Given the description of an element on the screen output the (x, y) to click on. 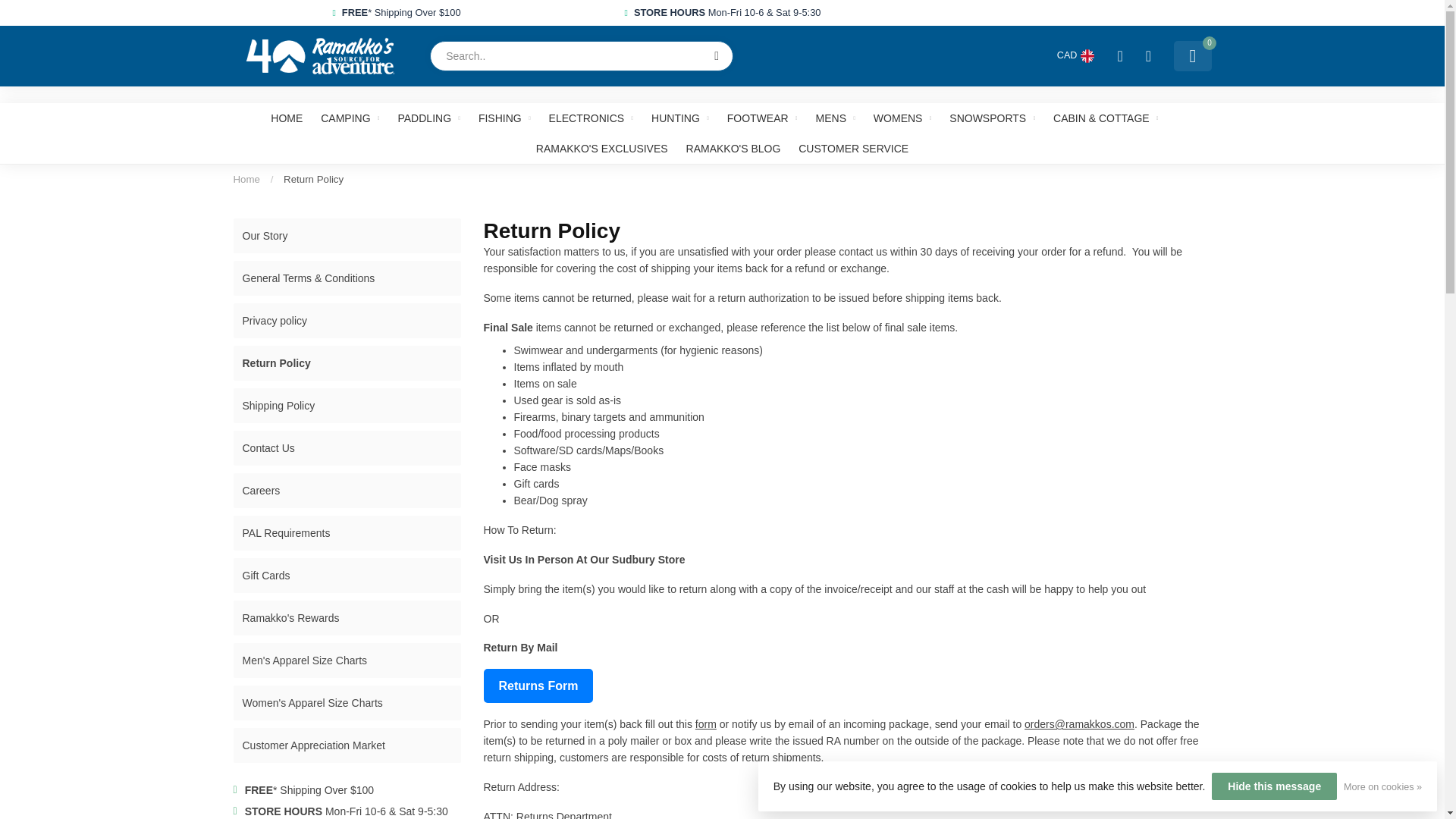
HOME (286, 118)
CAMPING (349, 118)
Home (246, 179)
0 (1192, 55)
1 (1060, 244)
